Given the description of an element on the screen output the (x, y) to click on. 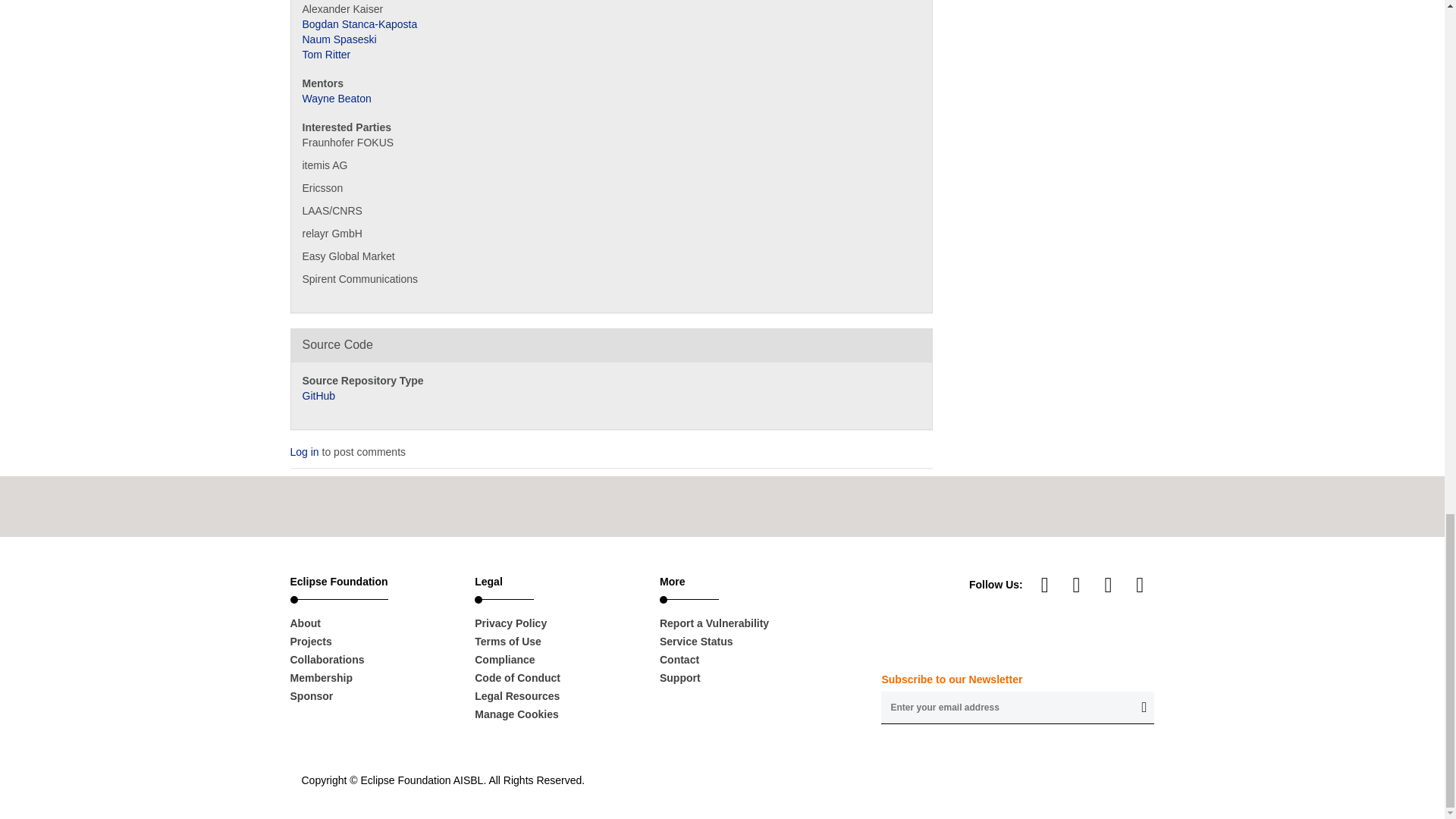
YouTube Channel (1044, 583)
LinkedIn (1076, 583)
Facebook (1108, 583)
Twitter (1139, 583)
